Given the description of an element on the screen output the (x, y) to click on. 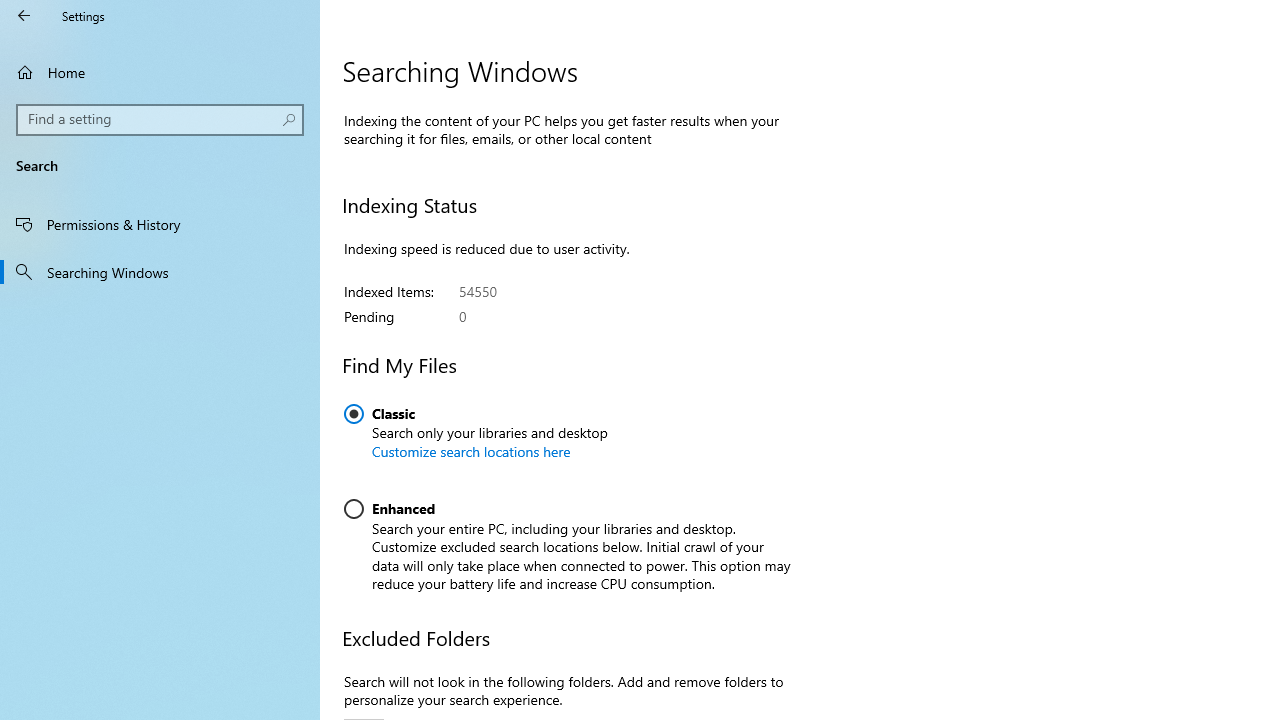
Searching Windows (160, 271)
Home (160, 71)
Back (24, 15)
Classic. Search only your libraries and desktop (476, 439)
Permissions & History (160, 223)
Customize search locations here (471, 451)
Search box, Find a setting (160, 119)
